Given the description of an element on the screen output the (x, y) to click on. 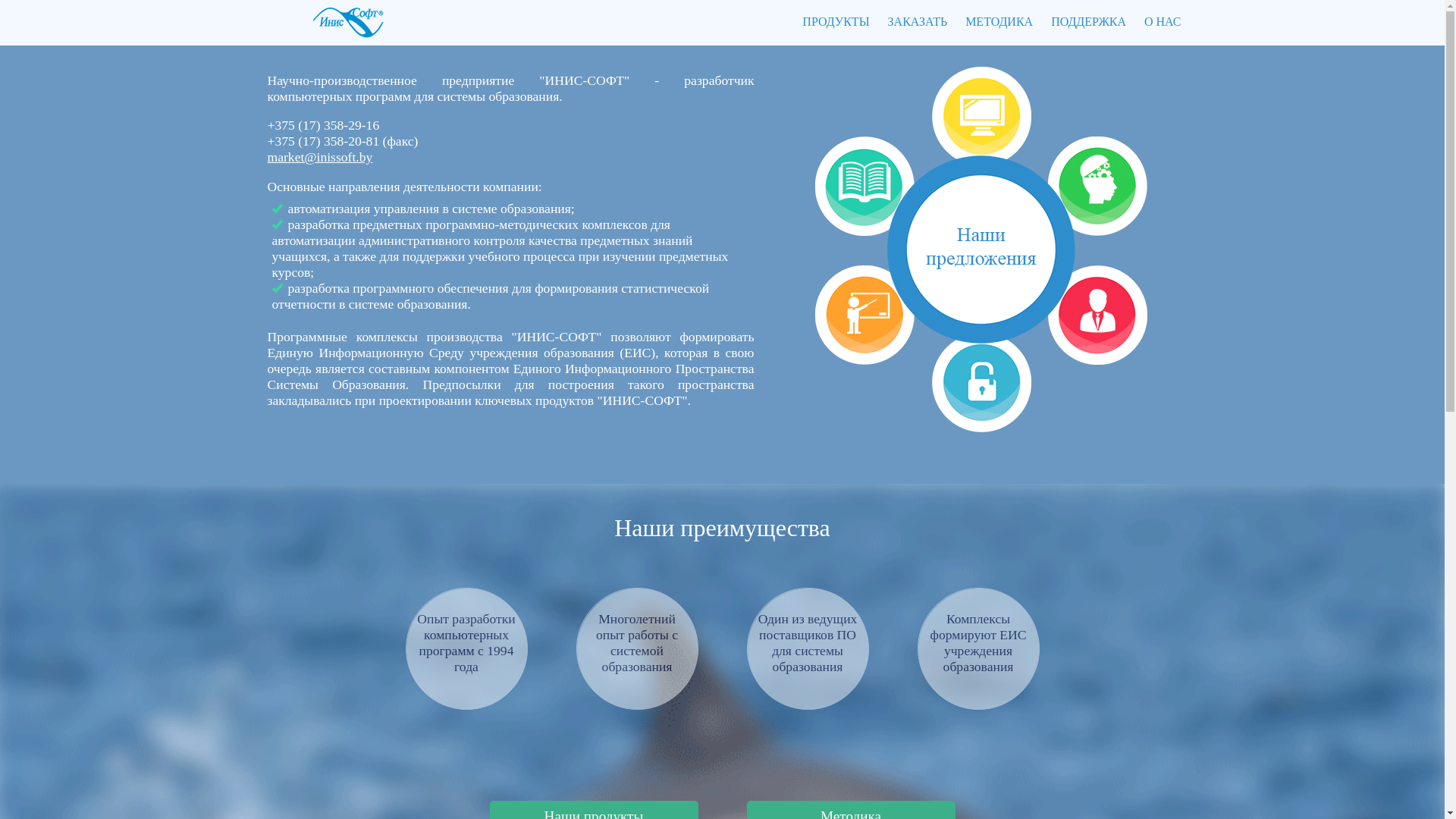
market@inissoft.by Element type: text (319, 156)
